Given the description of an element on the screen output the (x, y) to click on. 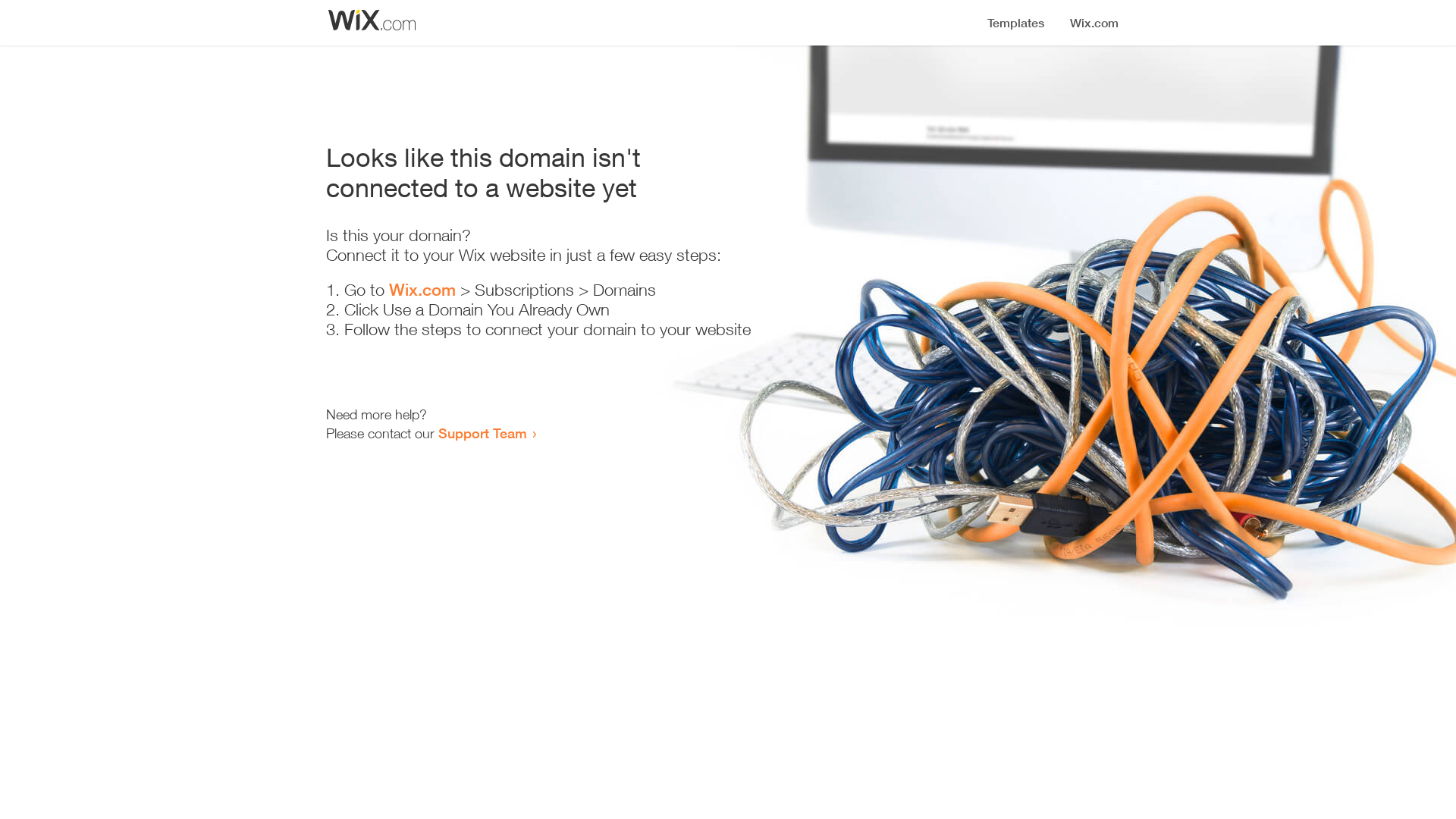
Support Team Element type: text (482, 432)
Wix.com Element type: text (422, 289)
